Given the description of an element on the screen output the (x, y) to click on. 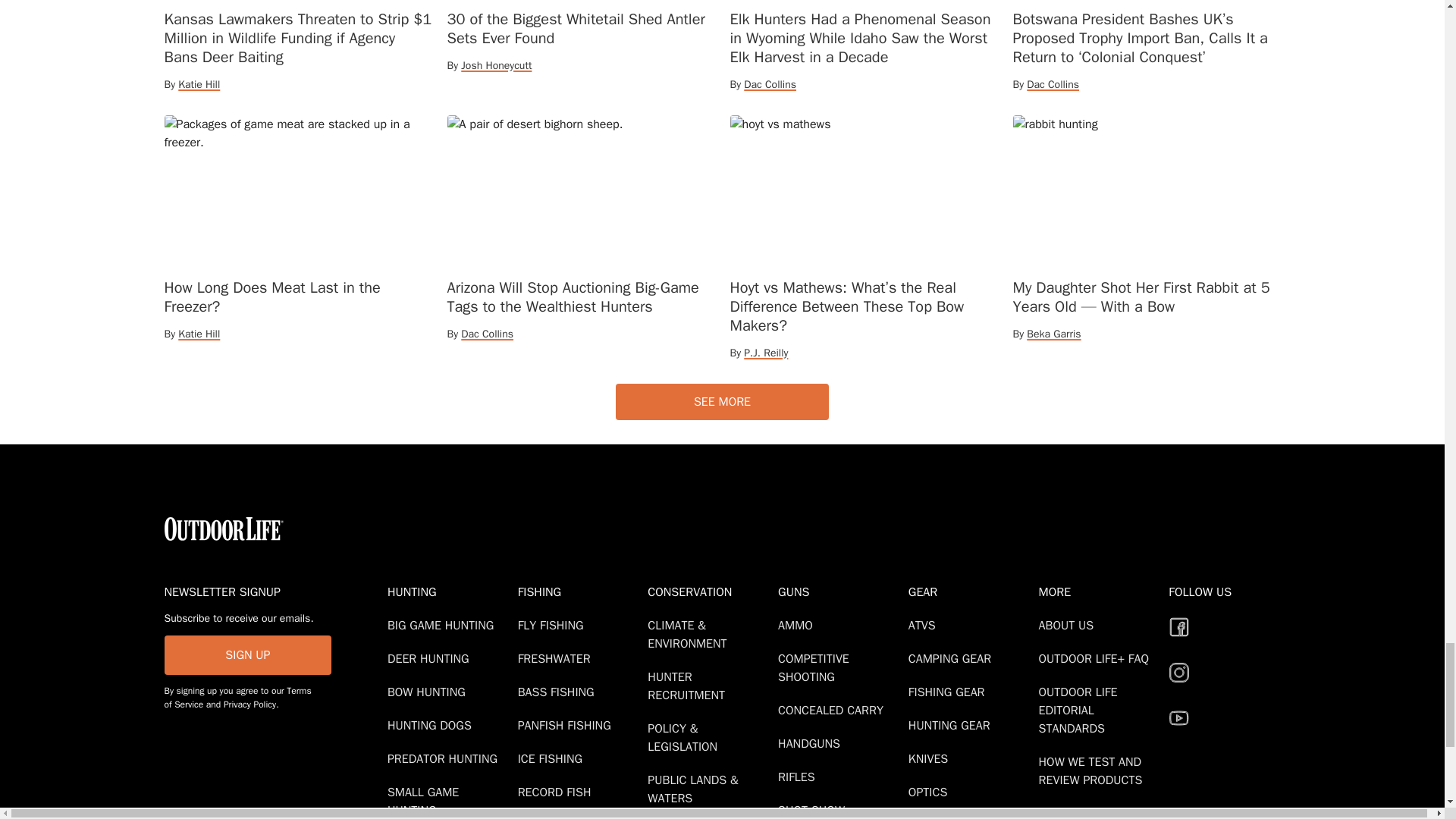
Hunting (449, 592)
Fishing (580, 592)
Big Game Hunting (443, 625)
Fly Fishing (553, 625)
Deer Hunting (431, 658)
Conservation (709, 592)
